Given the description of an element on the screen output the (x, y) to click on. 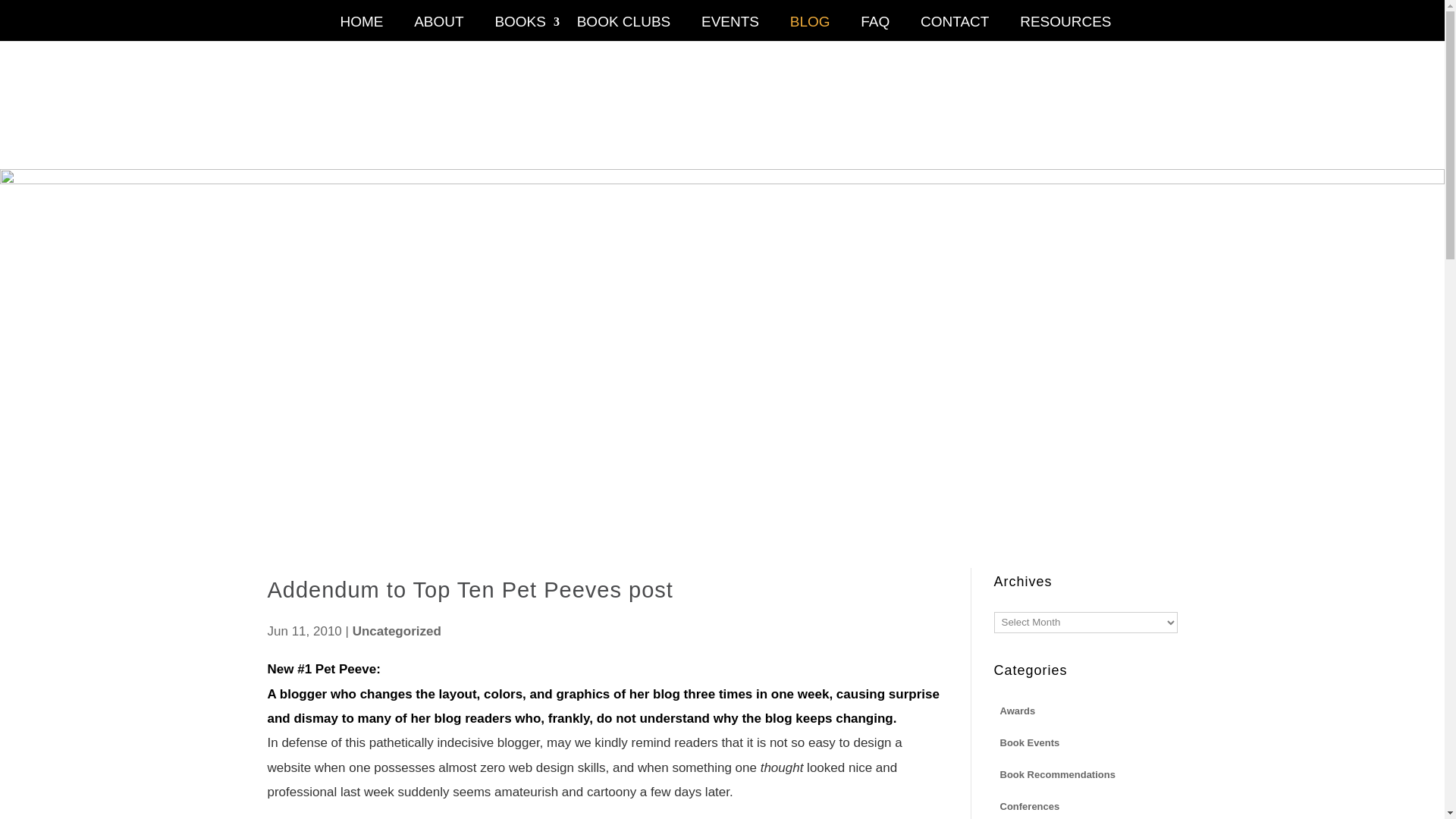
BLOG (810, 28)
Awards (1016, 710)
Book Events (1028, 742)
EVENTS (729, 28)
CONTACT (954, 28)
Uncategorized (396, 631)
Book Recommendations (1056, 773)
Conferences (1028, 805)
BOOK CLUBS (624, 28)
HOME (361, 28)
BOOKS (520, 28)
RESOURCES (1065, 28)
ABOUT (438, 28)
FAQ (874, 28)
